Given the description of an element on the screen output the (x, y) to click on. 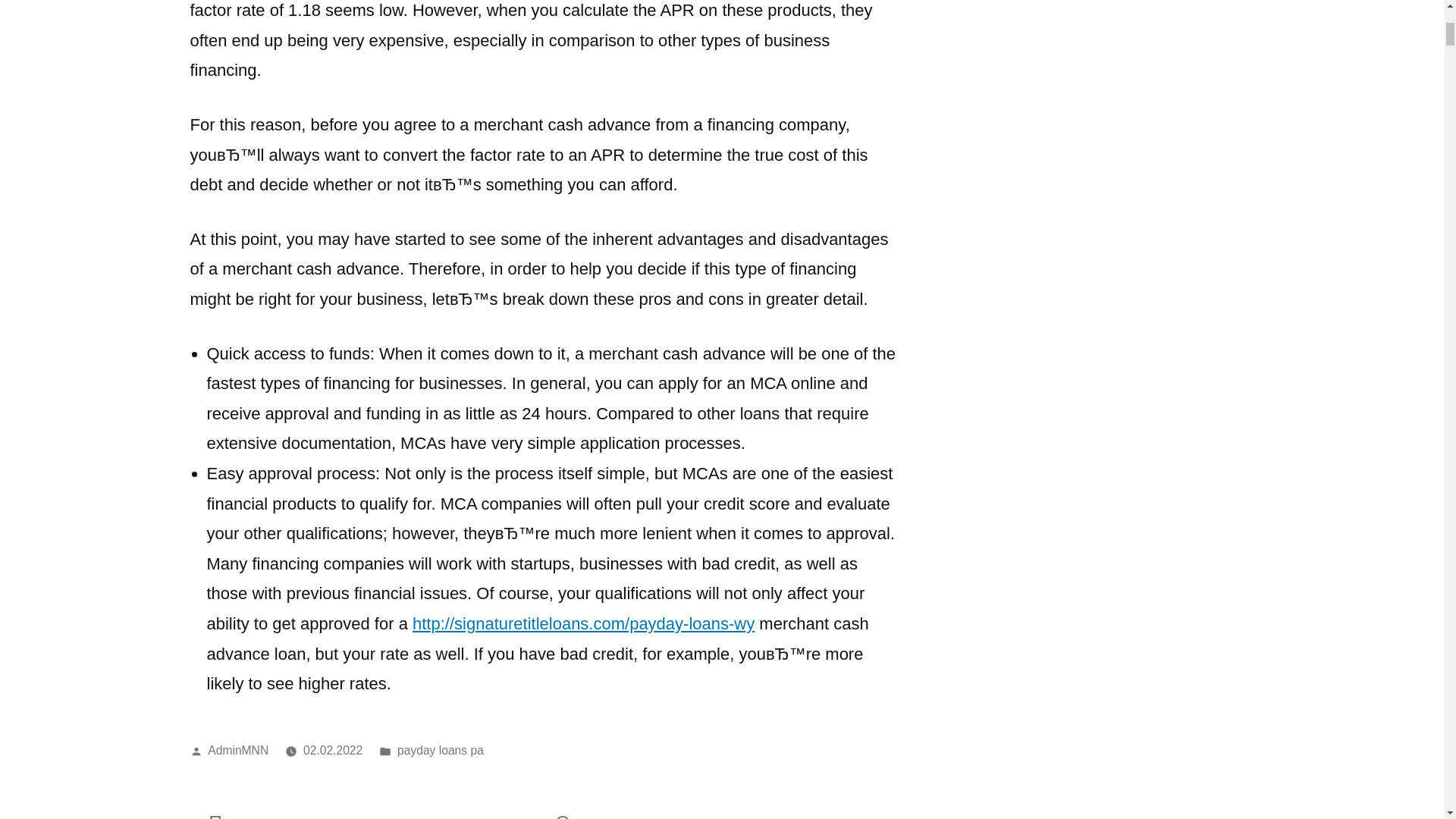
AdminMNN (237, 749)
payday loans pa (440, 749)
02.02.2022 (332, 749)
